Given the description of an element on the screen output the (x, y) to click on. 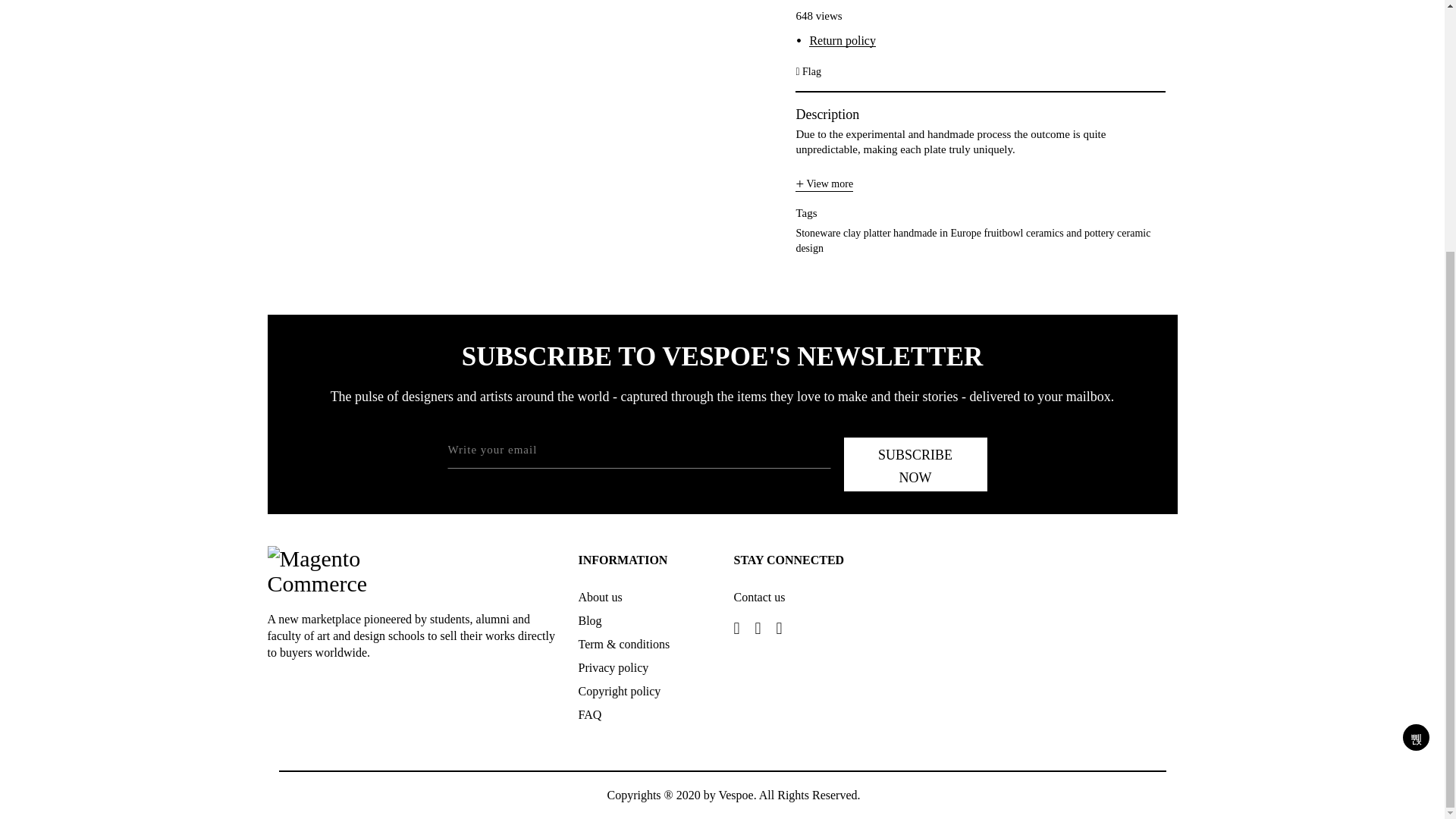
Subscribe now (915, 464)
